Given the description of an element on the screen output the (x, y) to click on. 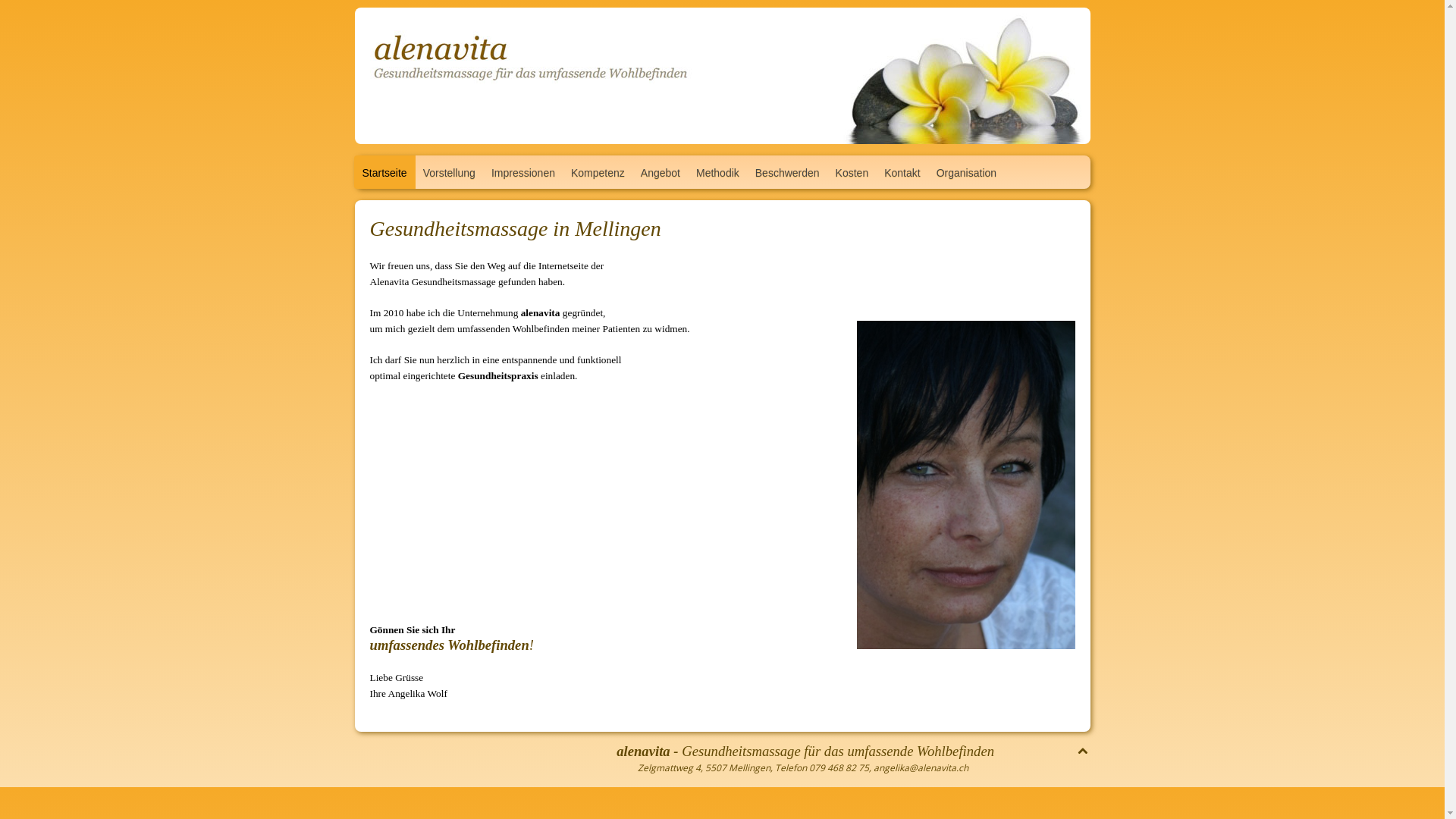
Beschwerden Element type: text (787, 171)
Impressionen Element type: text (523, 171)
Kontakt Element type: text (901, 171)
Methodik Element type: text (717, 171)
Startseite Element type: text (383, 171)
Vorstellung Element type: text (448, 171)
angelika@alenavita.ch Element type: text (920, 767)
Organisation Element type: text (966, 171)
Angebot Element type: text (660, 171)
Kompetenz Element type: text (597, 171)
Kosten Element type: text (852, 171)
